Given the description of an element on the screen output the (x, y) to click on. 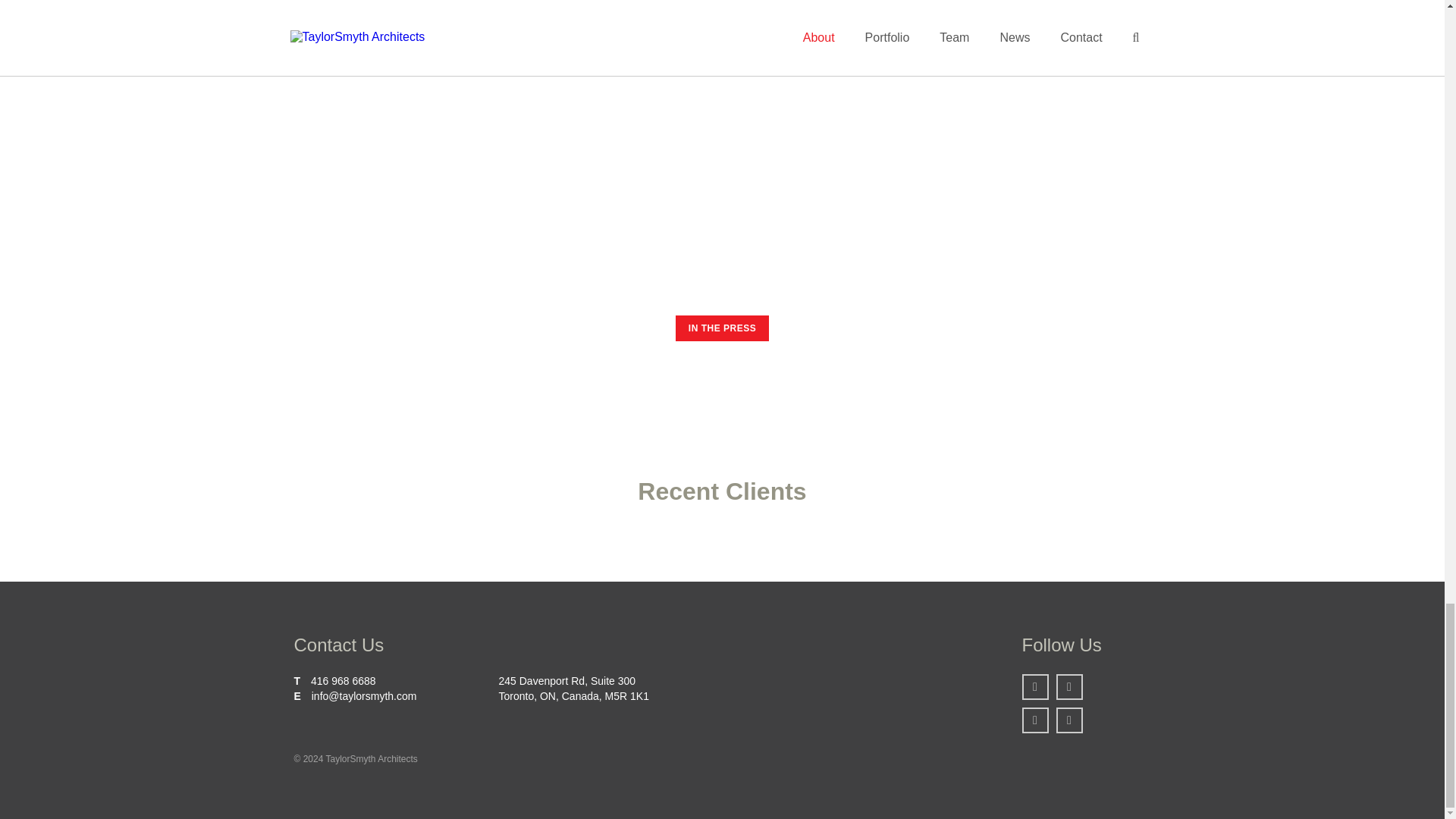
IN THE PRESS (721, 328)
416 968 6688 (343, 680)
